Given the description of an element on the screen output the (x, y) to click on. 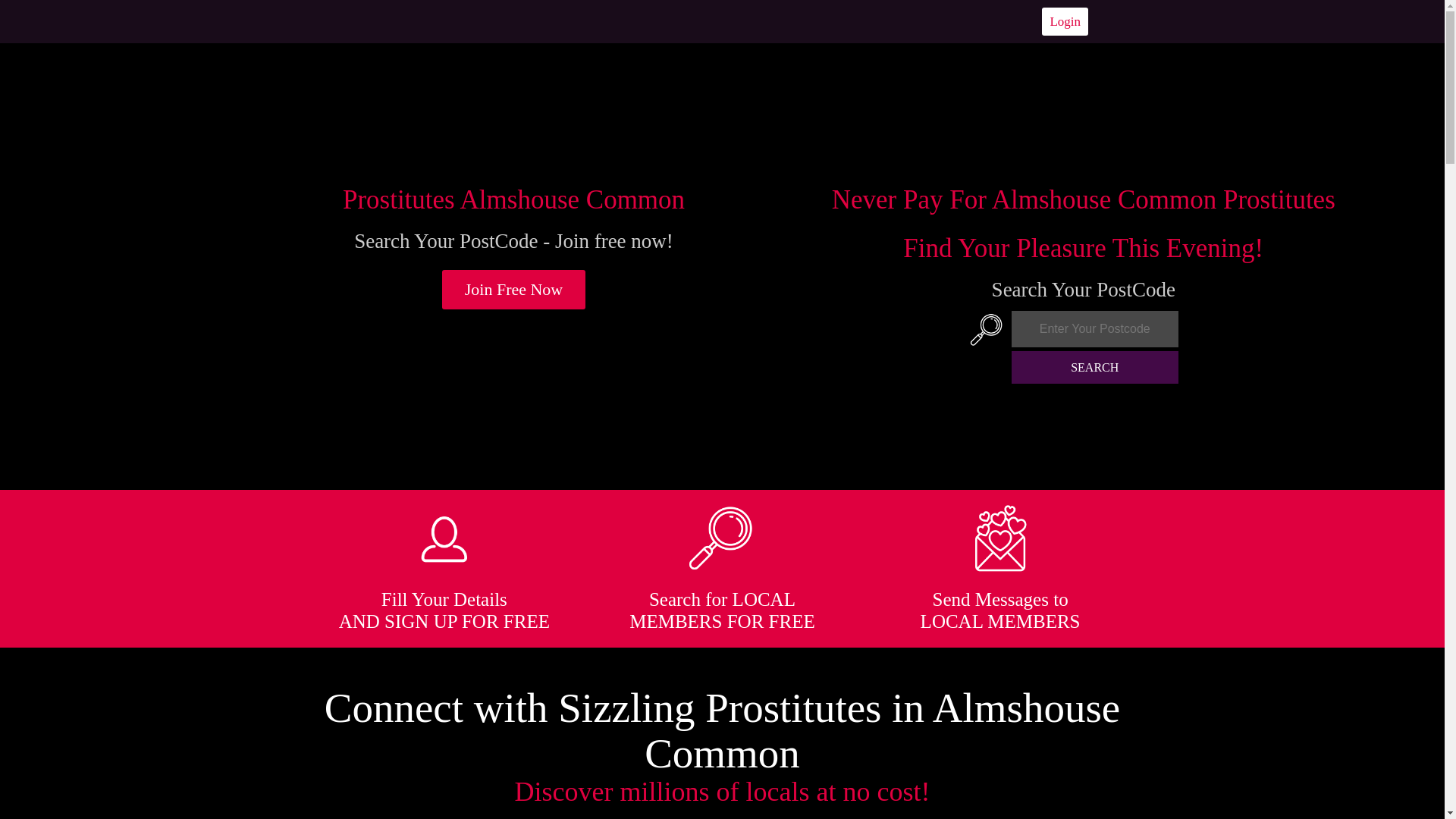
Join (514, 289)
Login (1064, 21)
SEARCH (1094, 367)
Login (1064, 21)
Join Free Now (514, 289)
